Given the description of an element on the screen output the (x, y) to click on. 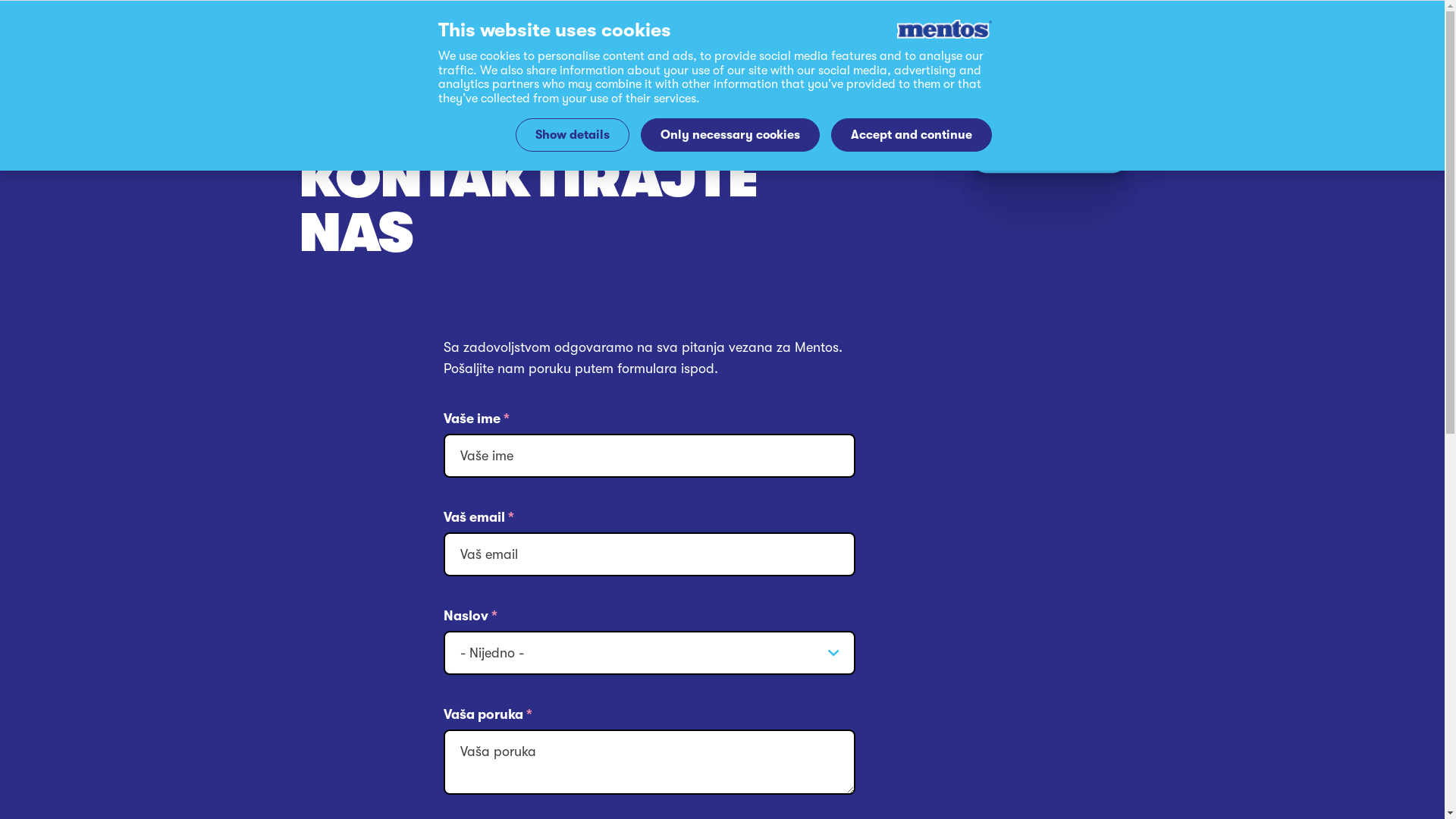
Only necessary cookies Element type: text (729, 135)
Proizvodi Element type: text (1024, 45)
Promocije Element type: text (1026, 61)
More Element type: text (1009, 136)
Accept and continue Element type: text (911, 135)
Historija Element type: text (1021, 95)
Show details Element type: text (572, 135)
FAQ Element type: text (1007, 79)
